Given the description of an element on the screen output the (x, y) to click on. 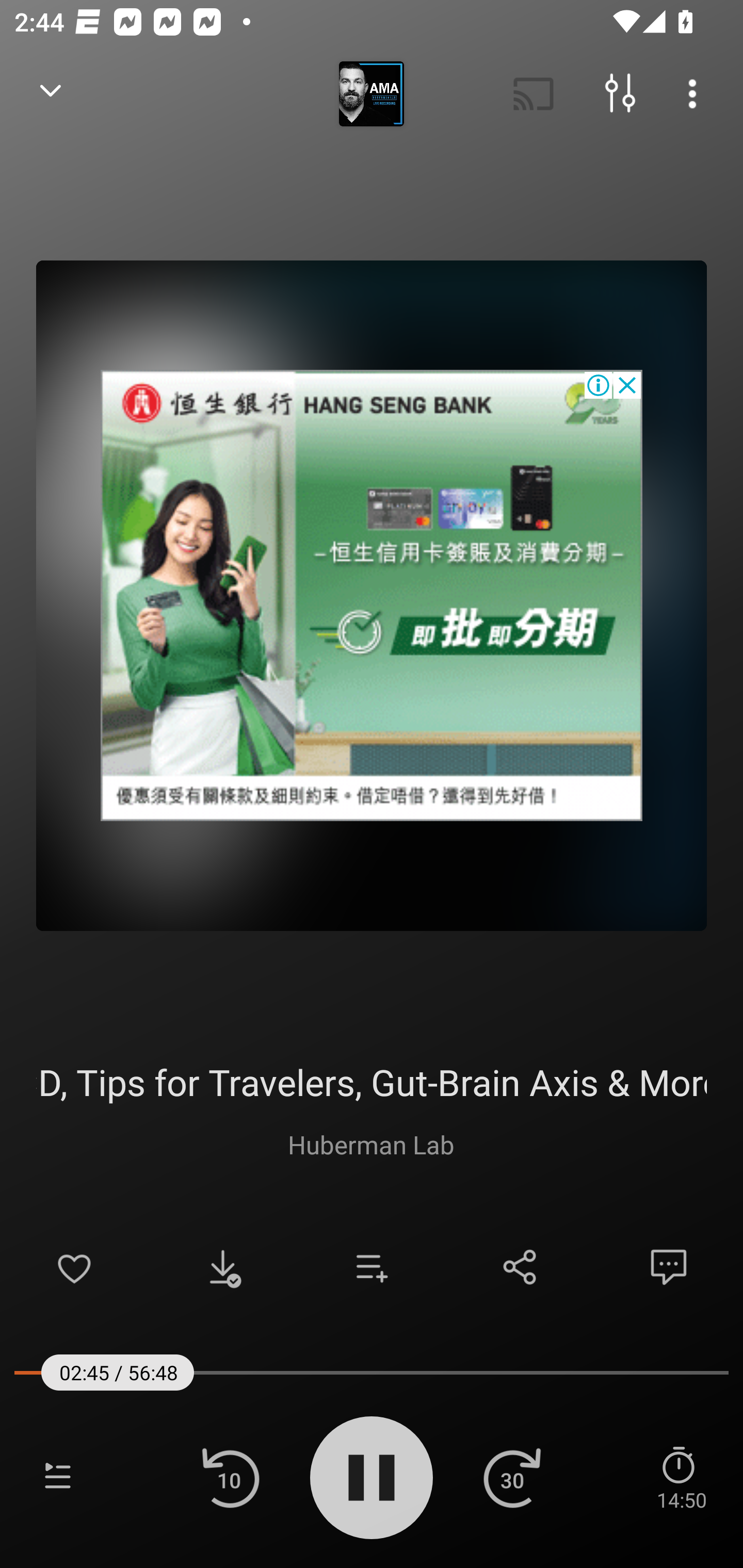
Cast. Disconnected (533, 93)
 Back (50, 94)
Advertisement (371, 595)
Advertisement (371, 595)
Huberman Lab (370, 1144)
Comments (668, 1266)
Add to Favorites (73, 1266)
Add to playlist (371, 1266)
Share (519, 1266)
Sleep Timer  14:50 (681, 1477)
 Playlist (57, 1477)
